Given the description of an element on the screen output the (x, y) to click on. 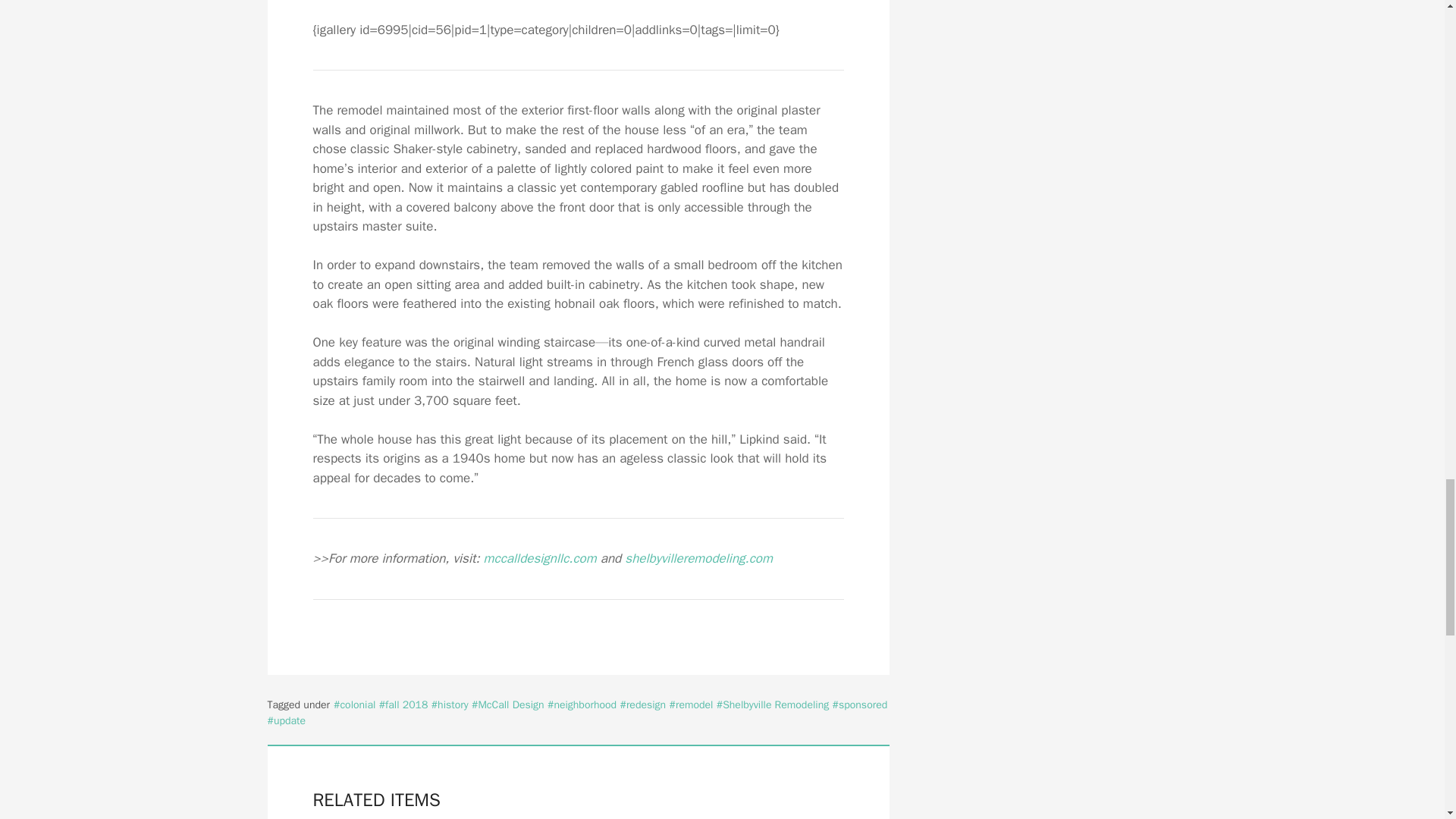
update (285, 720)
history (449, 704)
remodel (690, 704)
mccalldesignllc.com (539, 558)
sponsored (860, 704)
shelbyvilleremodeling.com (698, 558)
neighborhood (581, 704)
McCall Design (507, 704)
fall 2018 (403, 704)
redesign (642, 704)
Shelbyville Remodeling (772, 704)
colonial (354, 704)
